Given the description of an element on the screen output the (x, y) to click on. 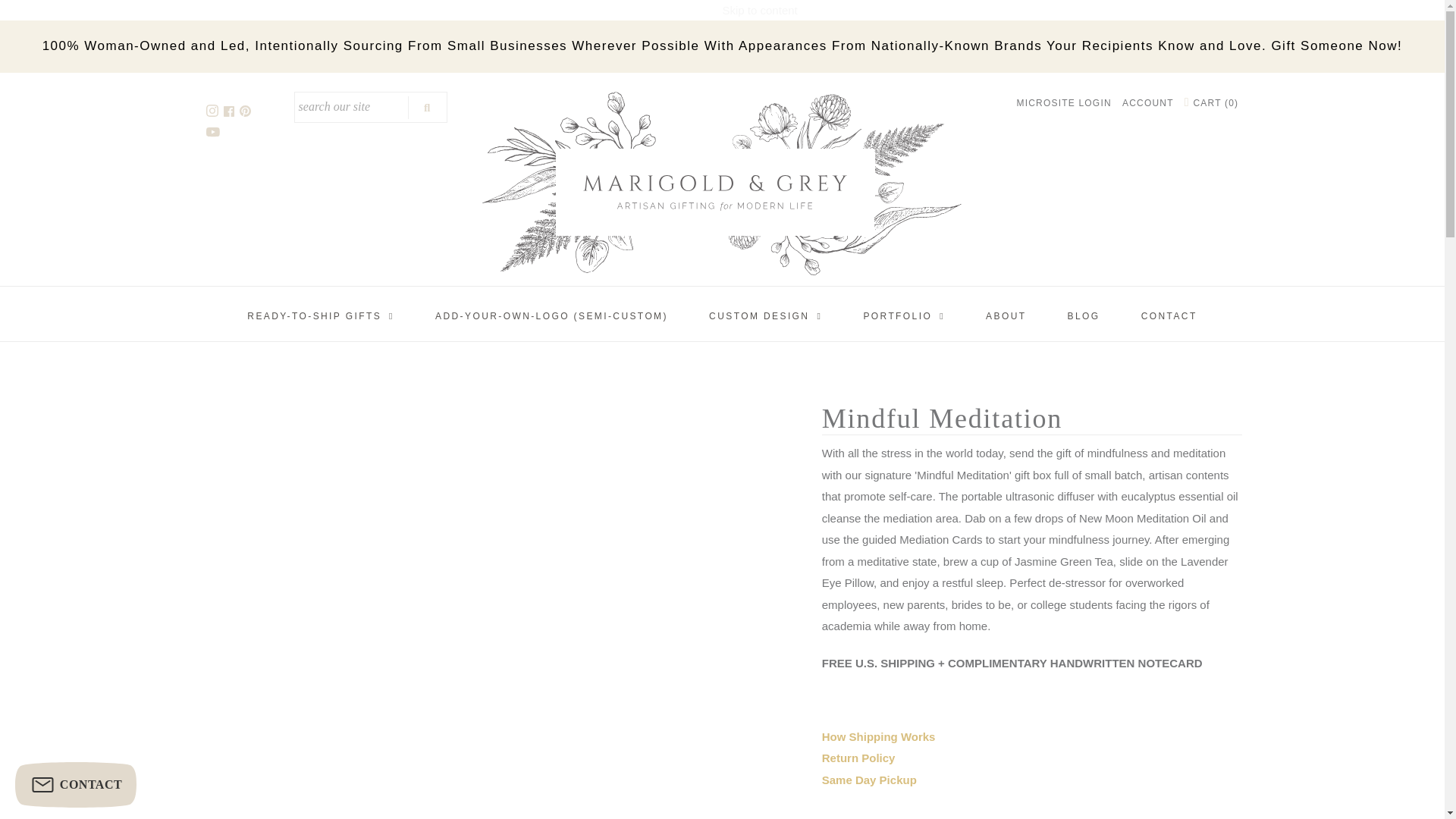
CUSTOM DESIGN (765, 316)
Skip to content (759, 10)
READY-TO-SHIP GIFTS (320, 316)
MICROSITE LOGIN (1063, 102)
ACCOUNT (1147, 102)
